Given the description of an element on the screen output the (x, y) to click on. 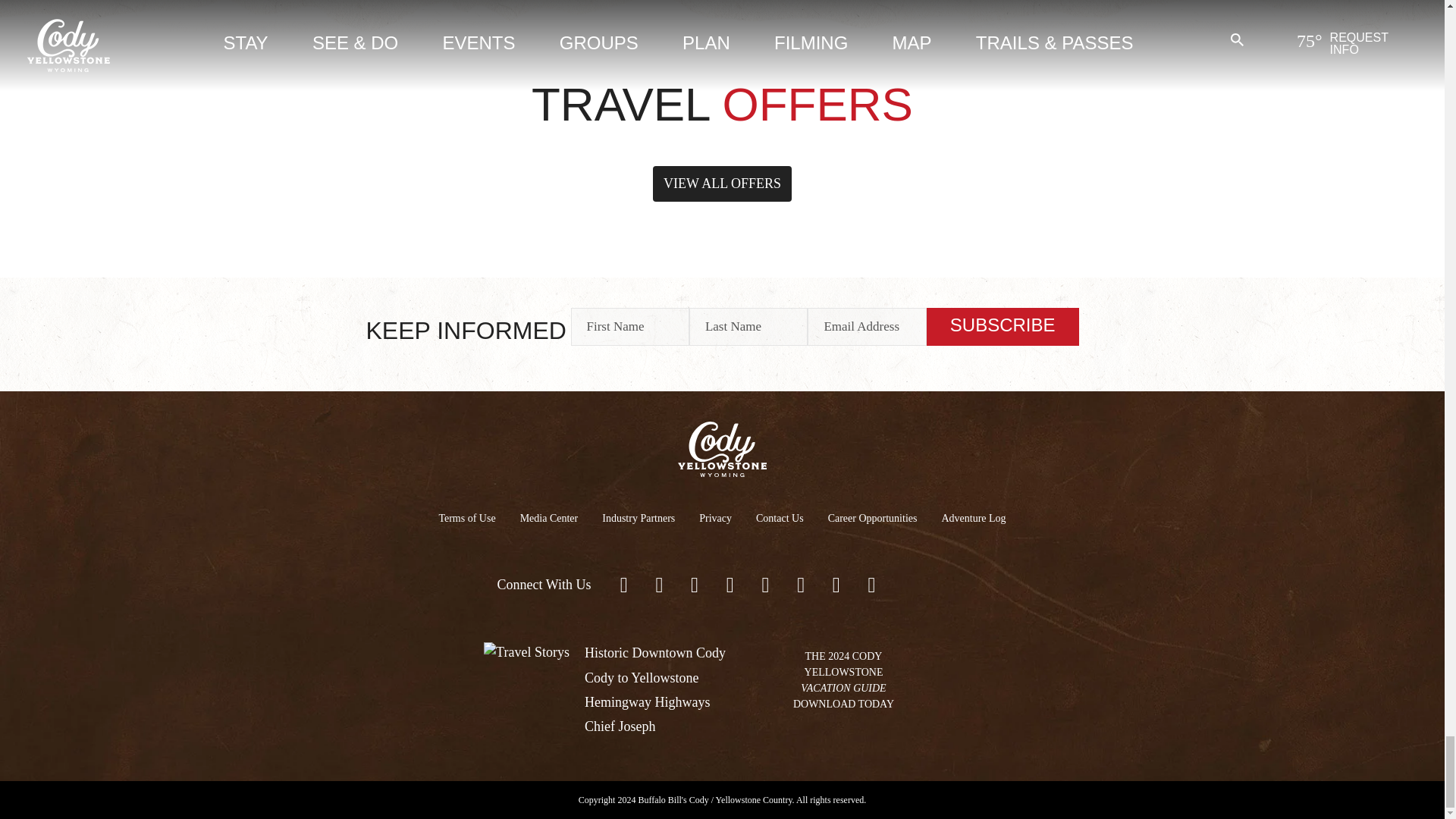
First Name (629, 326)
Terms of Use (466, 517)
VIEW ALL OFFERS (722, 183)
Industry Partners (638, 517)
Terms and Conditions (466, 517)
Media Center (549, 517)
Press and Media Center (549, 517)
Career Opportunities (872, 517)
Privacy Policy (715, 517)
Questions? Contact us! (779, 517)
Last Name (748, 326)
Email Address (867, 326)
Industry Partners (638, 517)
Subscribe (1002, 326)
Home (722, 447)
